Given the description of an element on the screen output the (x, y) to click on. 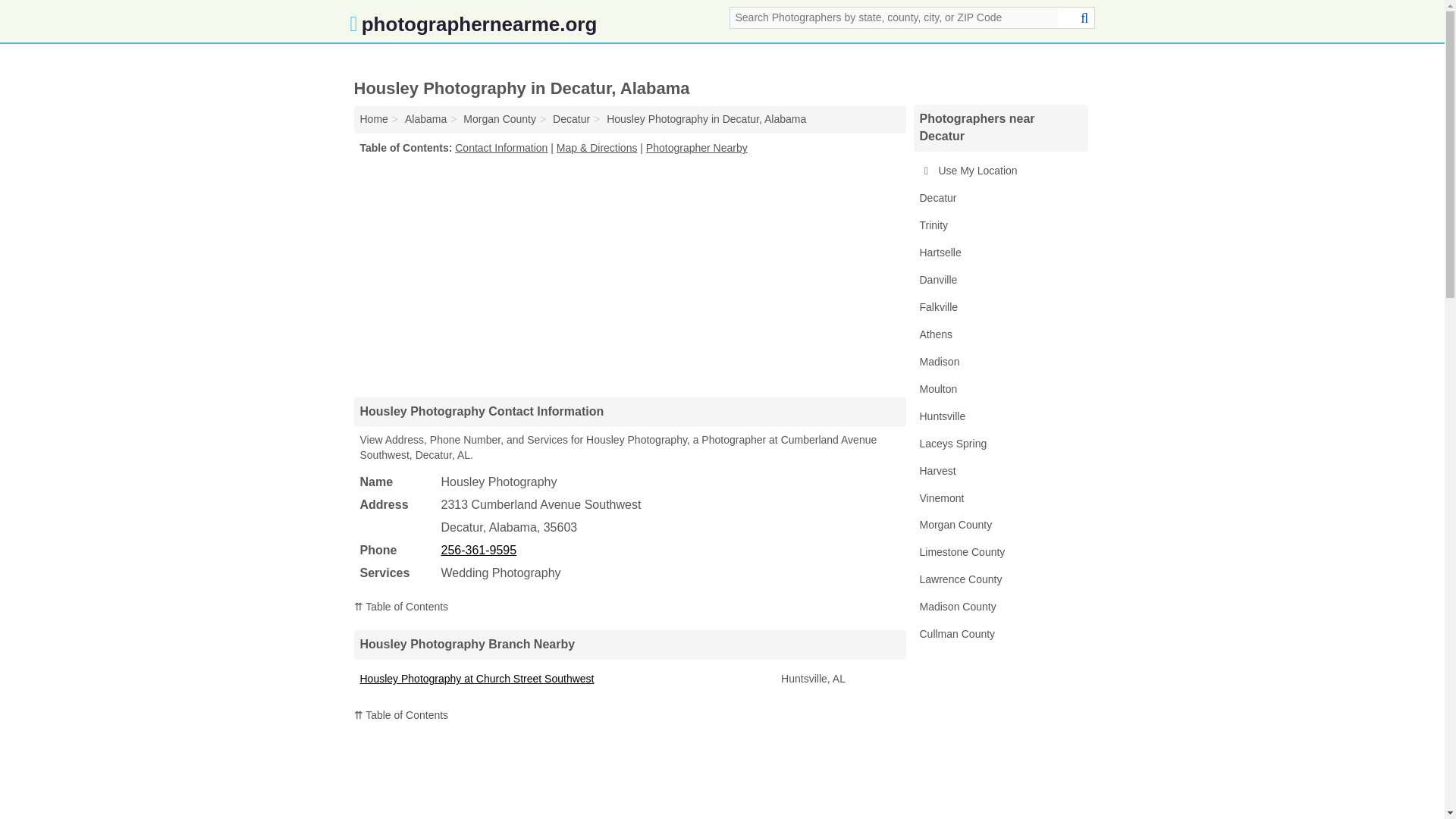
Home (373, 119)
Hartselle (999, 252)
Housley Photography at Church Street Southwest (476, 678)
Housley Photography in Decatur, Alabama (706, 119)
photographernearme.org (473, 27)
Falkville (999, 307)
Trinity (999, 225)
Advertisement (629, 275)
Use My Location (999, 171)
Decatur (999, 198)
Photographer Nearby (697, 147)
Alabama (425, 119)
Harvest (999, 471)
Decatur (571, 119)
Housley Photography in Huntsville, Alabama (476, 678)
